Given the description of an element on the screen output the (x, y) to click on. 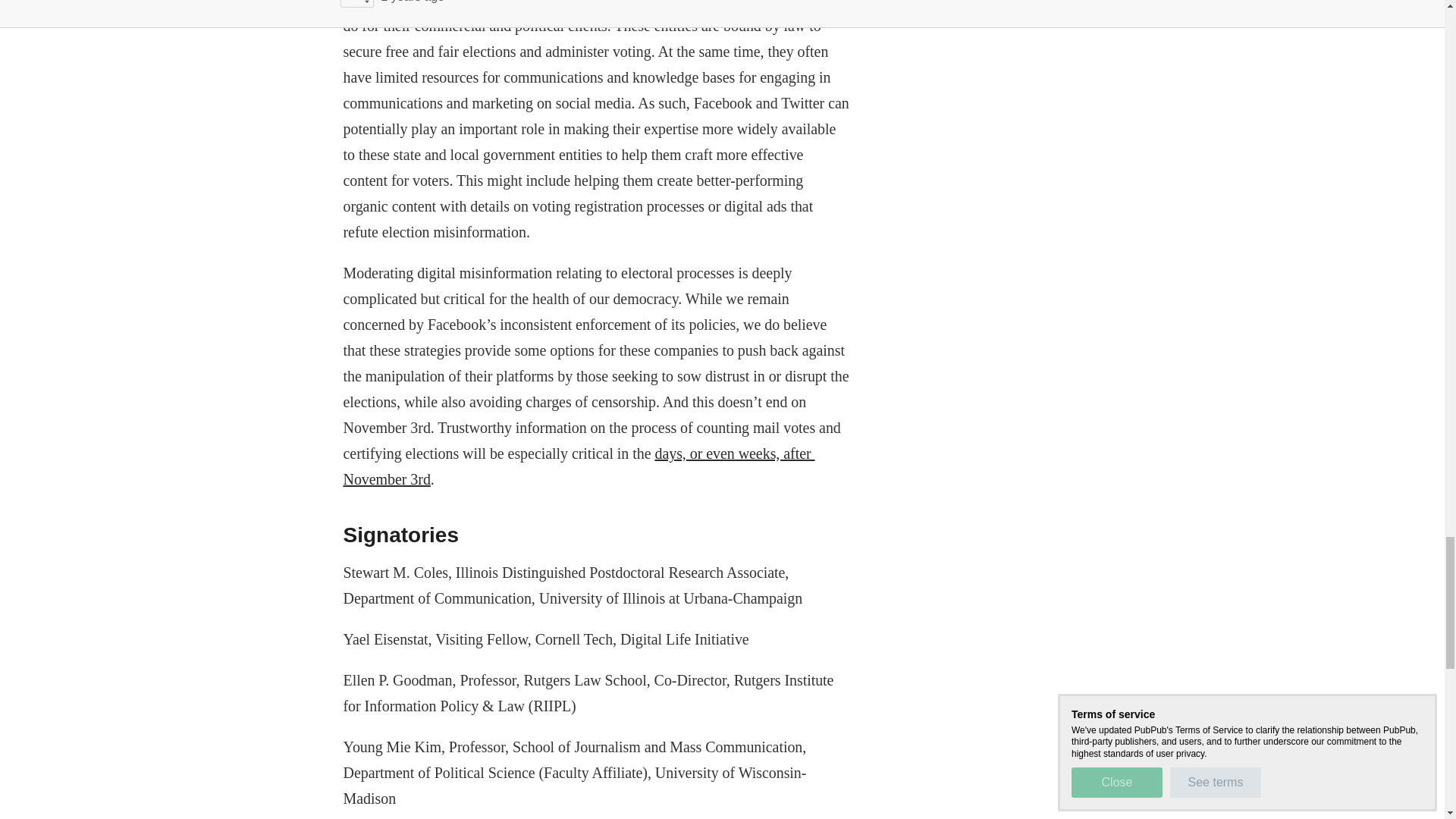
days, or even weeks, after November 3rd (577, 466)
